Given the description of an element on the screen output the (x, y) to click on. 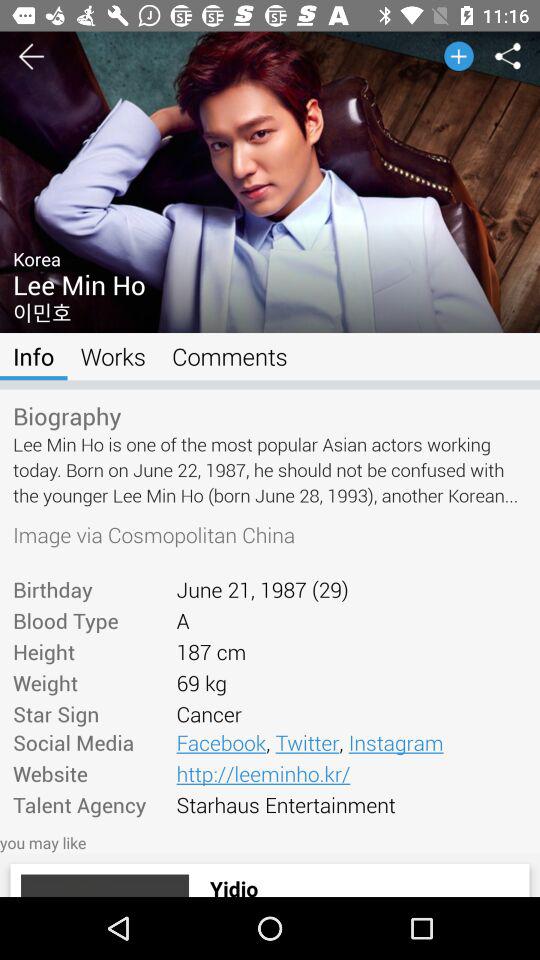
choose the item below you may like (359, 885)
